Given the description of an element on the screen output the (x, y) to click on. 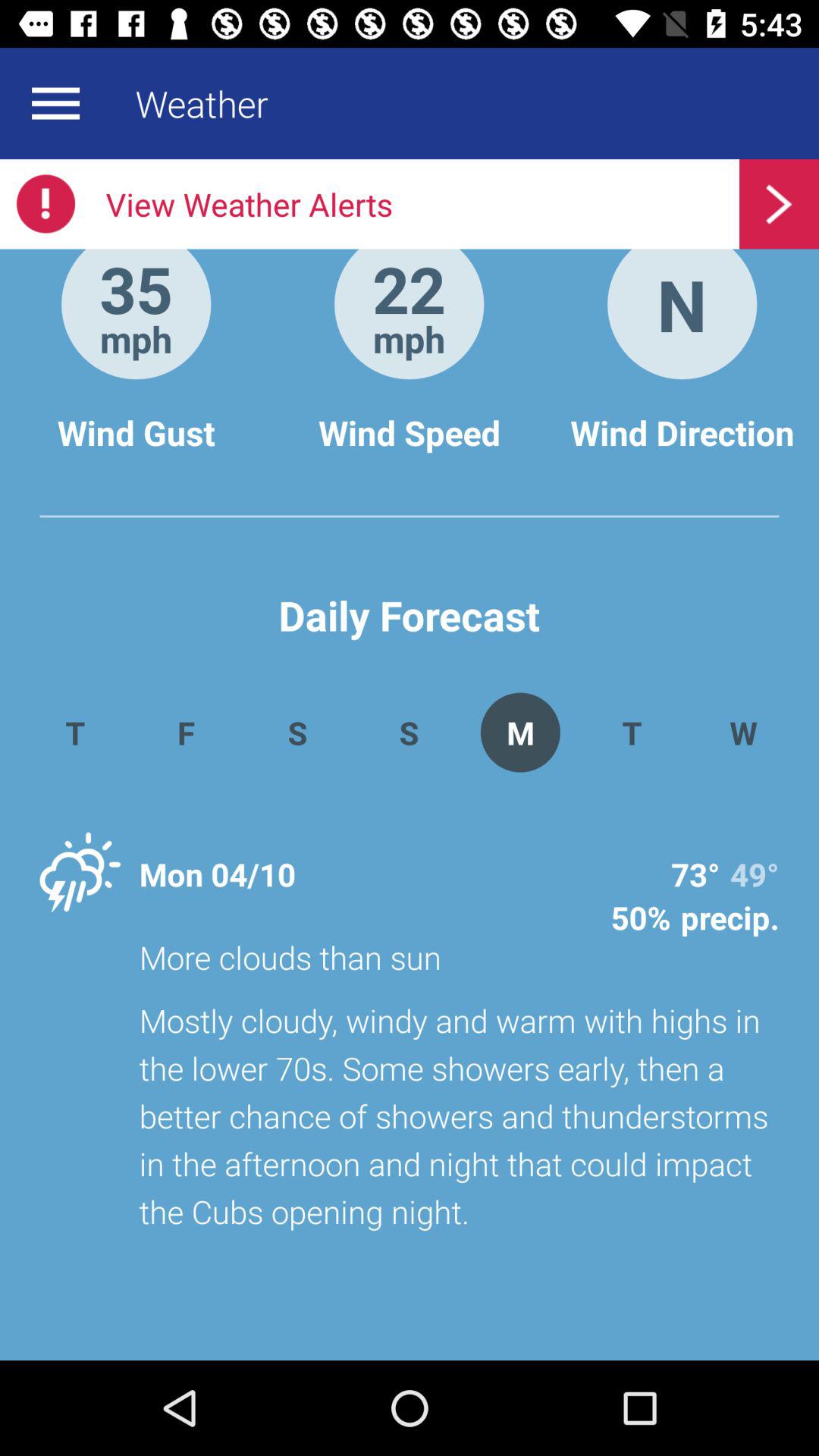
choose the app to the right of s (520, 732)
